Given the description of an element on the screen output the (x, y) to click on. 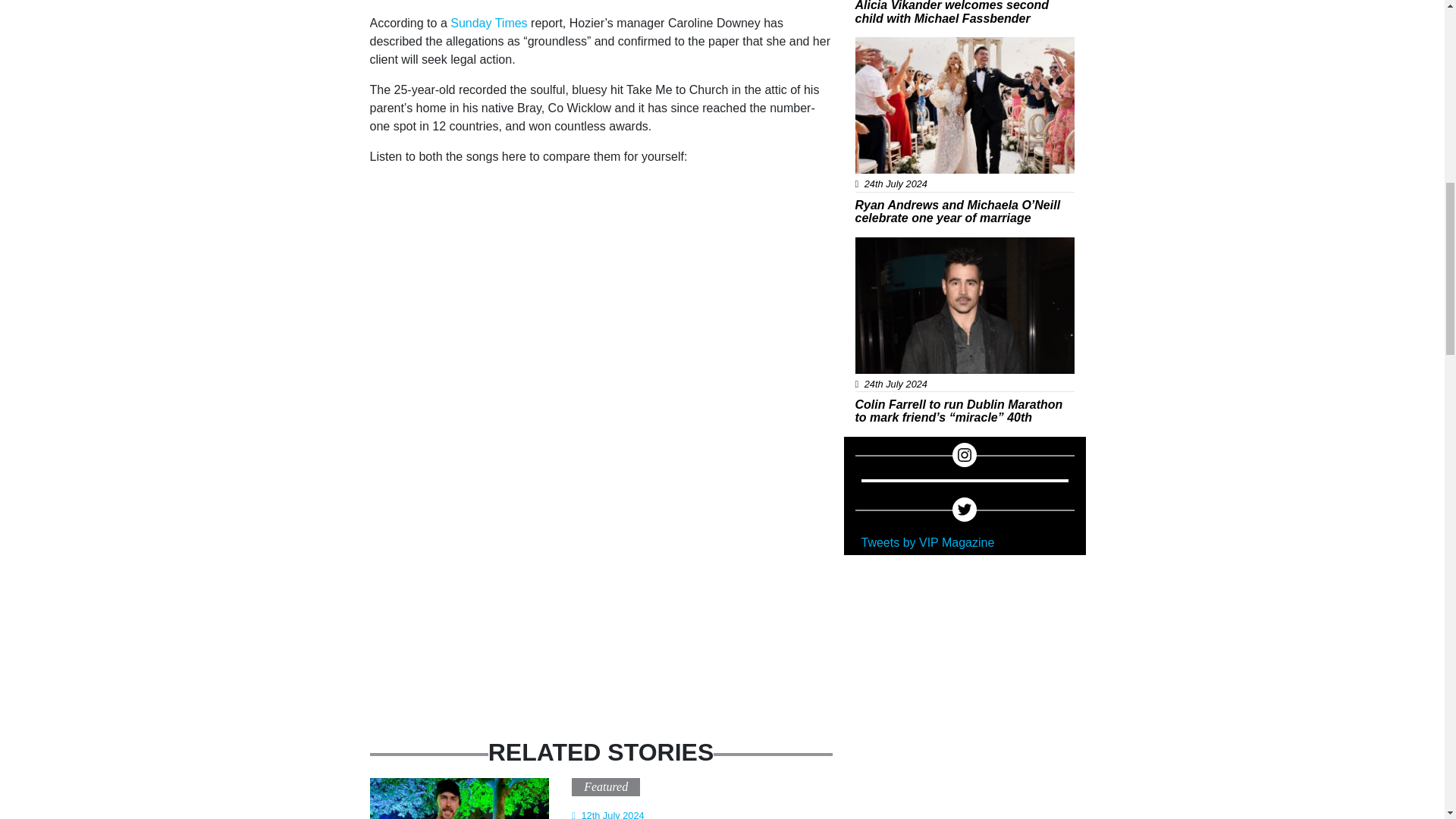
Featured (605, 786)
Sunday Times (488, 22)
